Given the description of an element on the screen output the (x, y) to click on. 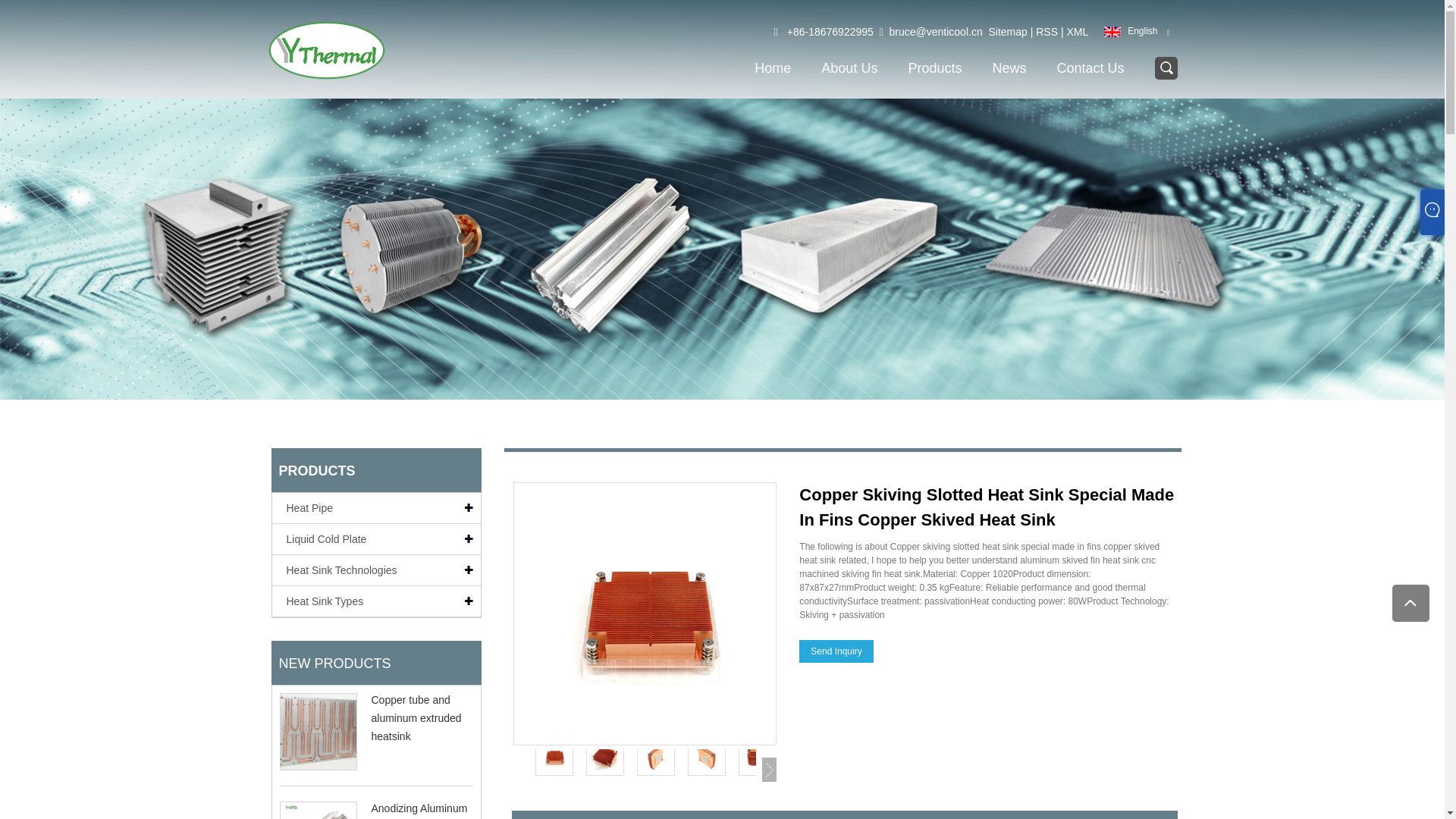
English (1128, 30)
English (1128, 30)
